Given the description of an element on the screen output the (x, y) to click on. 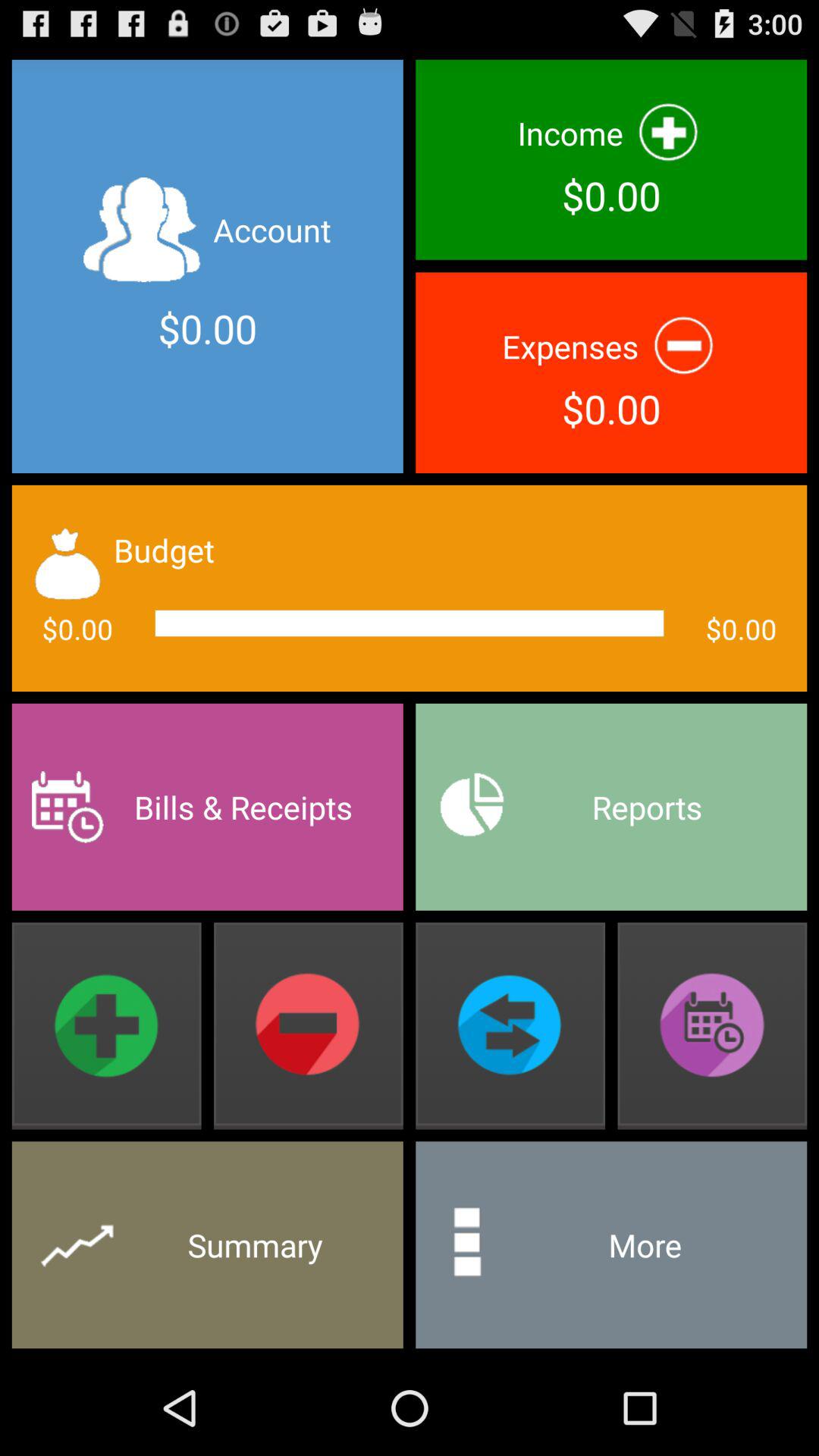
flip until more app (611, 1244)
